Given the description of an element on the screen output the (x, y) to click on. 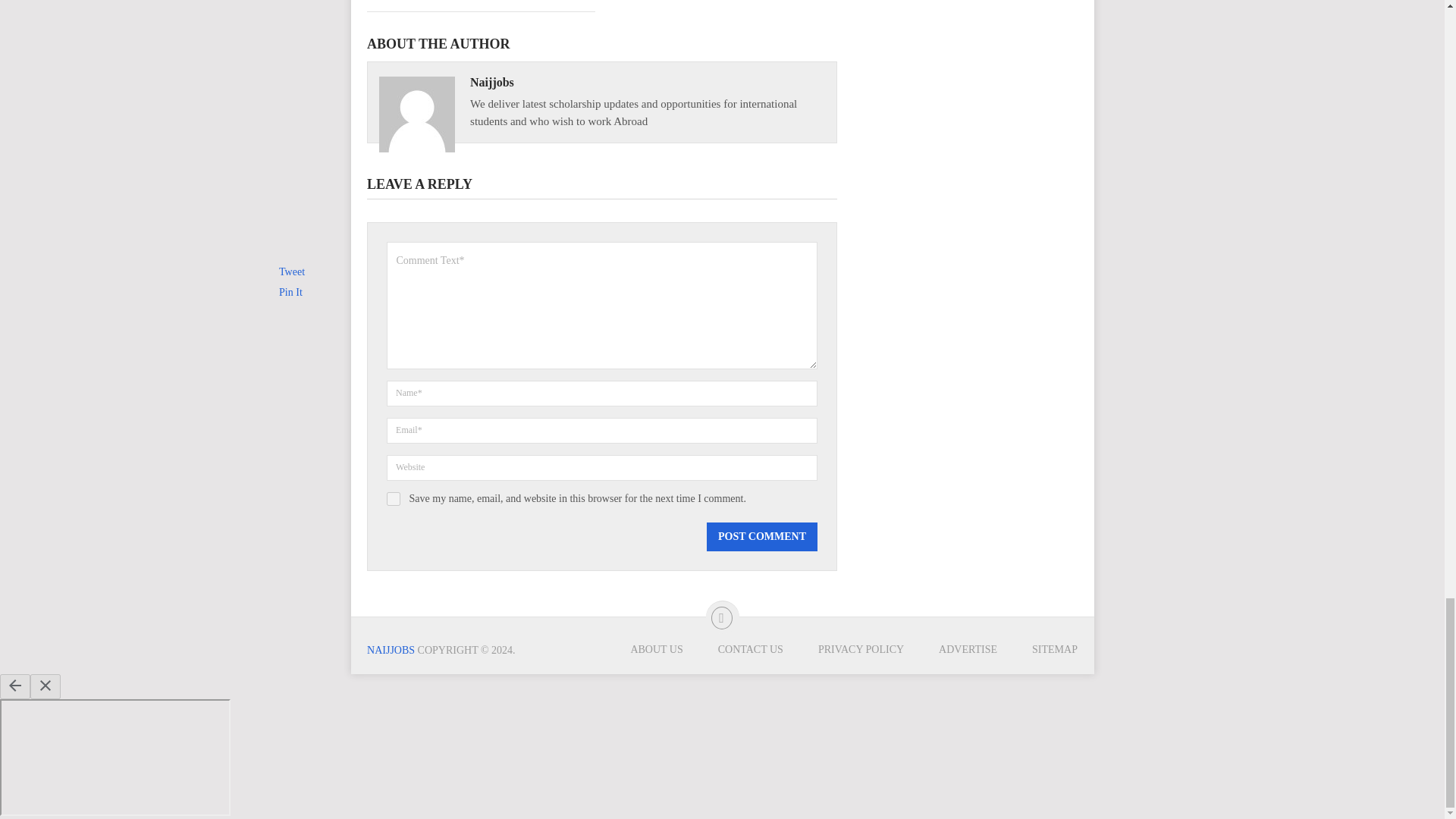
yes (393, 499)
Post Comment (761, 536)
Naijjobs (491, 82)
